Given the description of an element on the screen output the (x, y) to click on. 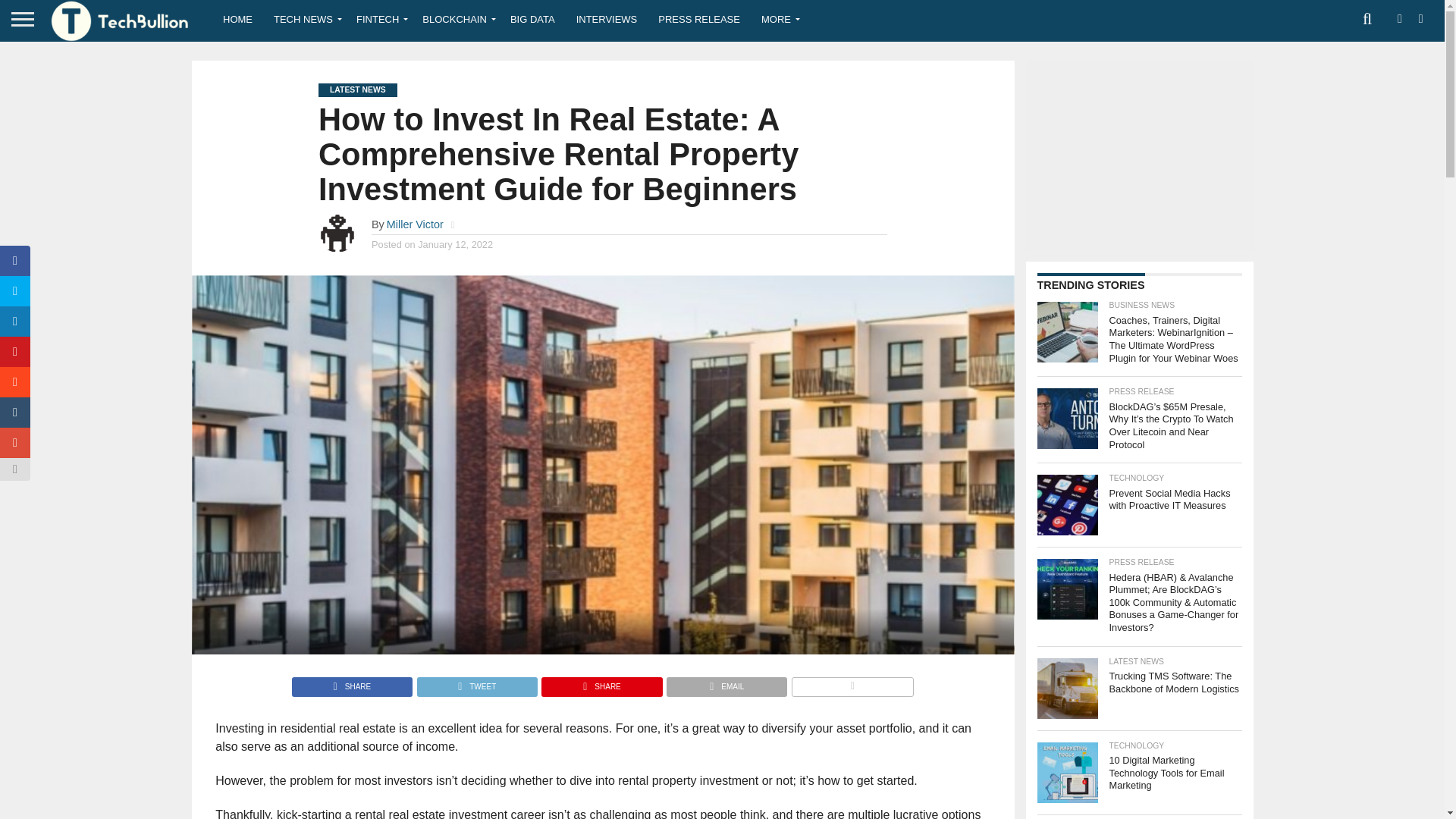
Tweet This Post (476, 682)
Share on Facebook (352, 682)
Posts by Miller Victor (415, 224)
Pin This Post (601, 682)
